Given the description of an element on the screen output the (x, y) to click on. 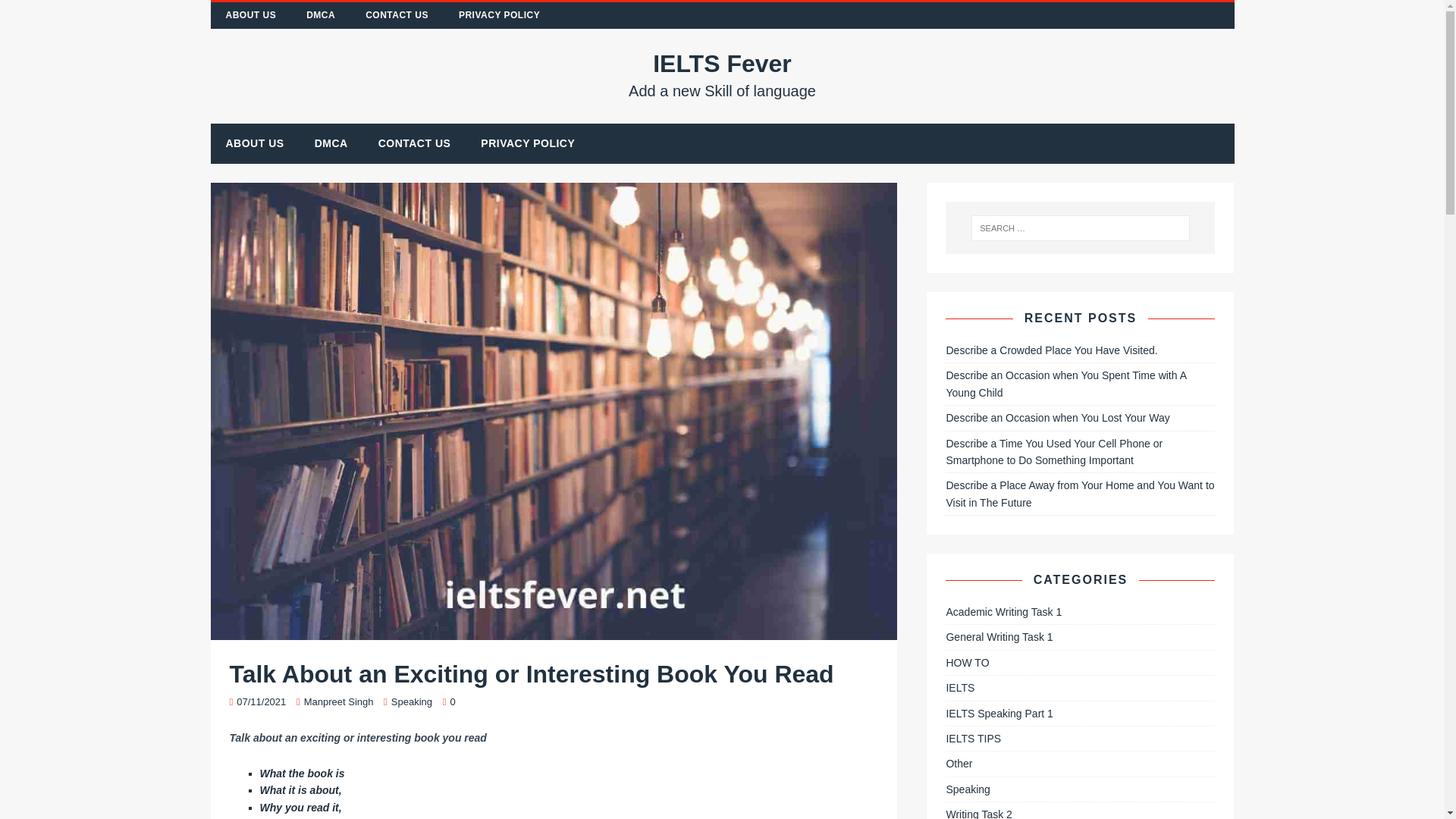
PRIVACY POLICY (527, 142)
Manpreet Singh (339, 701)
Describe an Occasion when You Spent Time with A Young Child (1065, 383)
CONTACT US (413, 142)
Describe a Crowded Place You Have Visited. (1050, 349)
Search (37, 13)
DMCA (722, 74)
CONTACT US (330, 142)
Describe an Occasion when You Lost Your Way (397, 15)
Speaking (1056, 417)
ABOUT US (411, 701)
PRIVACY POLICY (251, 15)
